Given the description of an element on the screen output the (x, y) to click on. 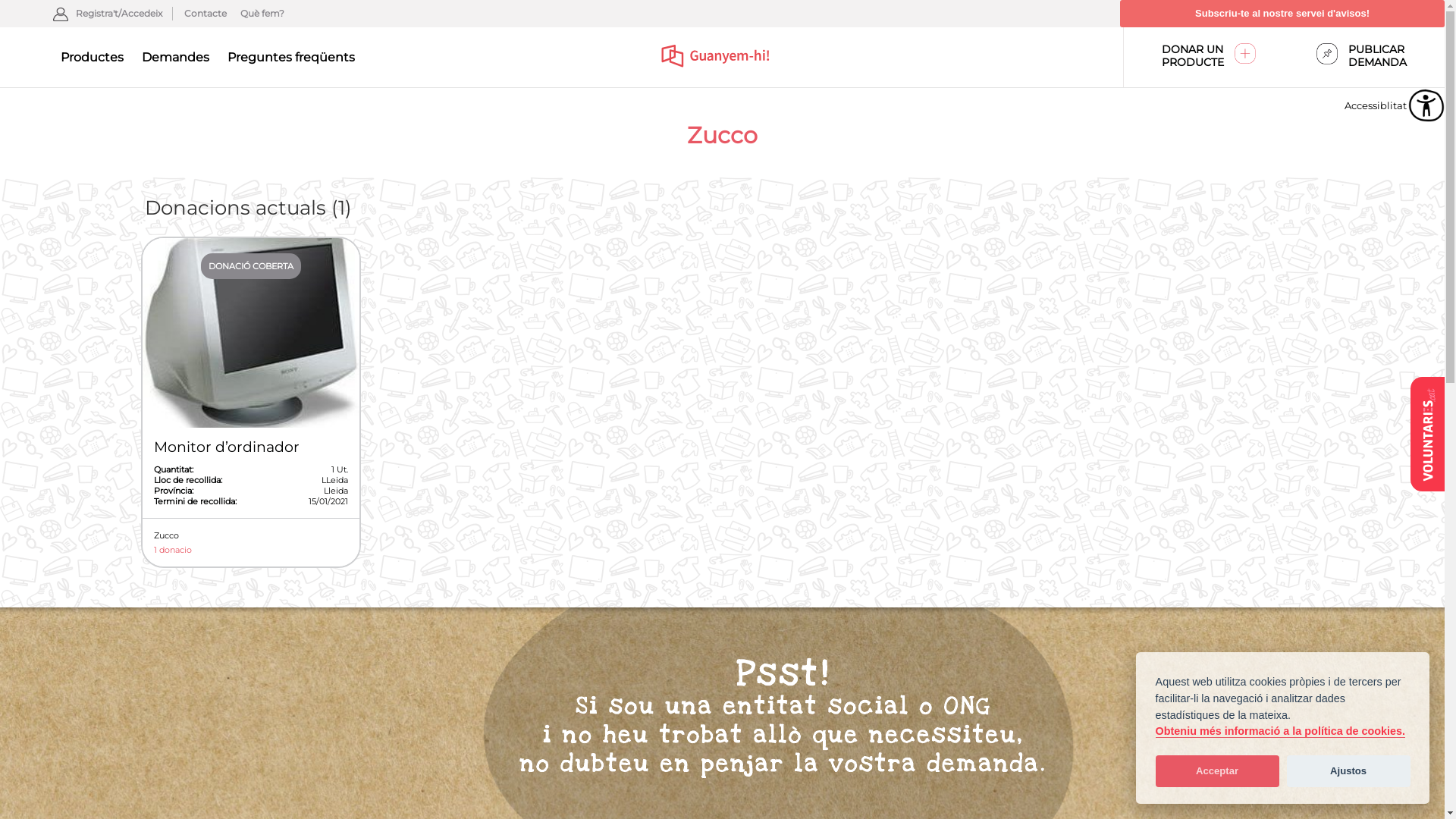
DONAR UN
PRODUCTE Element type: text (1204, 57)
Productes Element type: text (92, 56)
Acceptar Element type: text (1216, 771)
Ajustos Element type: text (1347, 771)
1 donacio Element type: text (250, 549)
Registra't/Accedeix Element type: text (107, 12)
Contacte Element type: text (204, 13)
PUBLICAR
DEMANDA Element type: text (1365, 57)
Demandes Element type: text (175, 56)
Zucco Element type: text (250, 535)
Accessiblitat Element type: text (1426, 105)
